Given the description of an element on the screen output the (x, y) to click on. 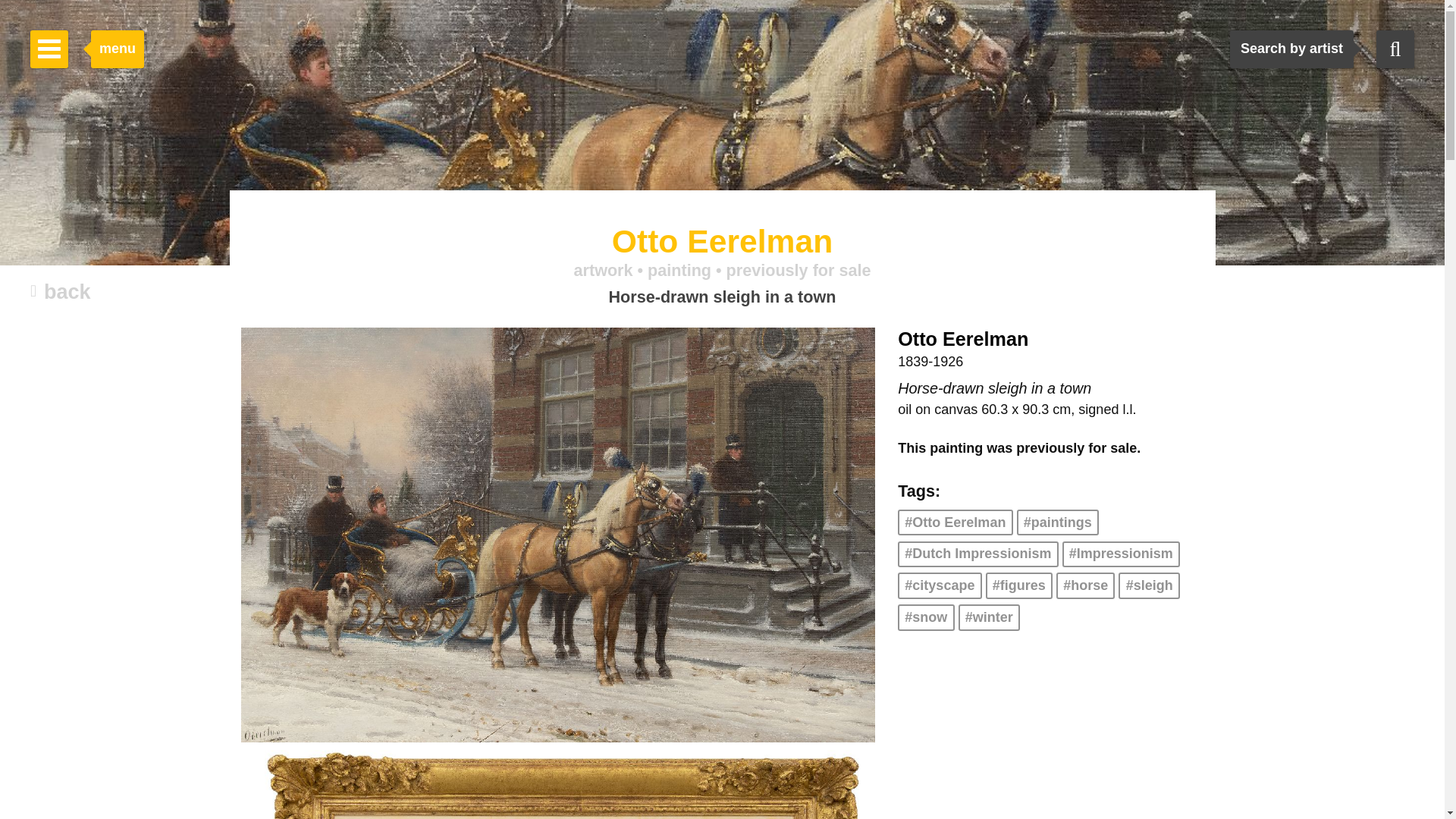
back (60, 291)
